Given the description of an element on the screen output the (x, y) to click on. 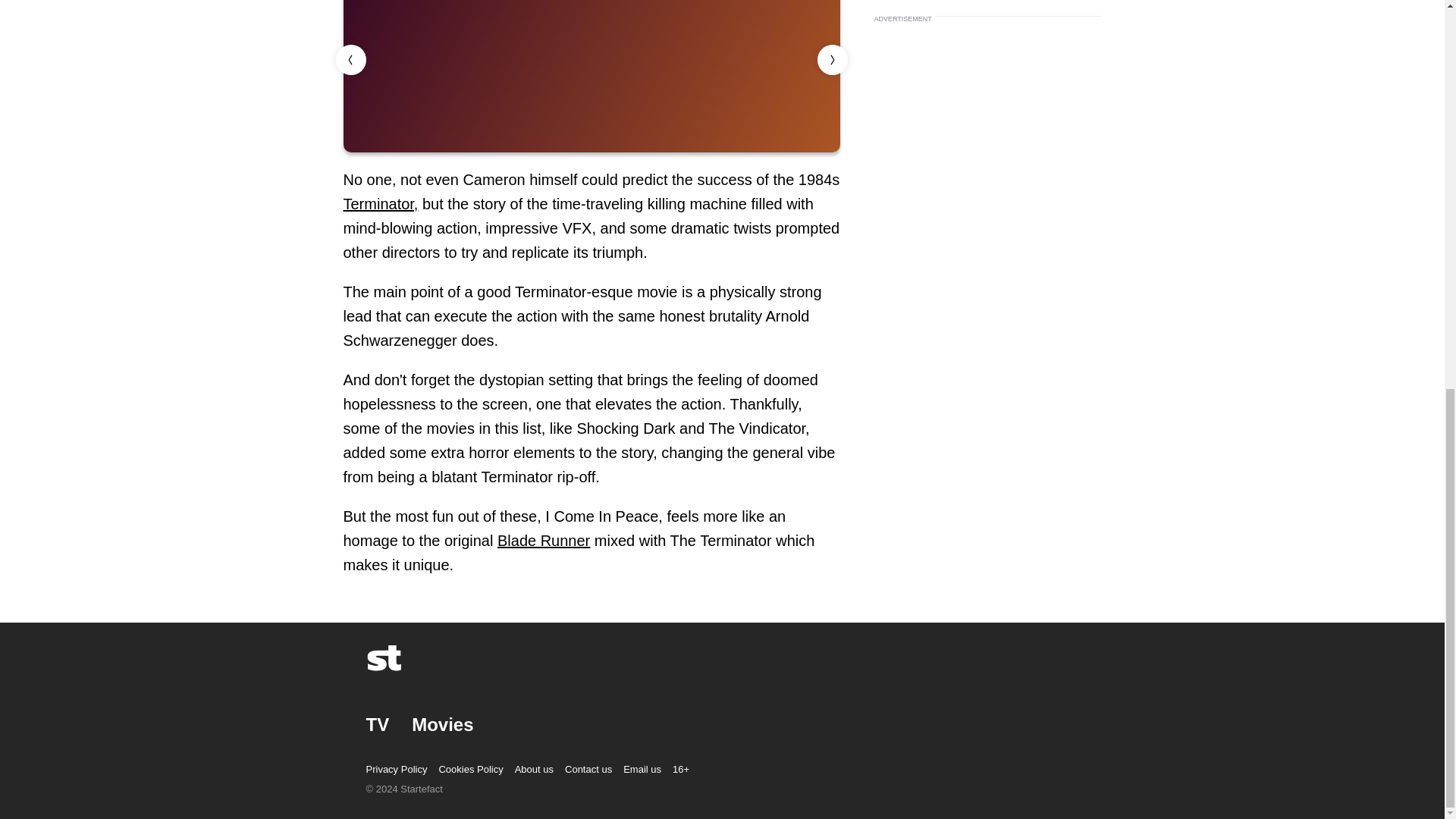
Blade Runner (543, 540)
Terminator, (379, 203)
